Given the description of an element on the screen output the (x, y) to click on. 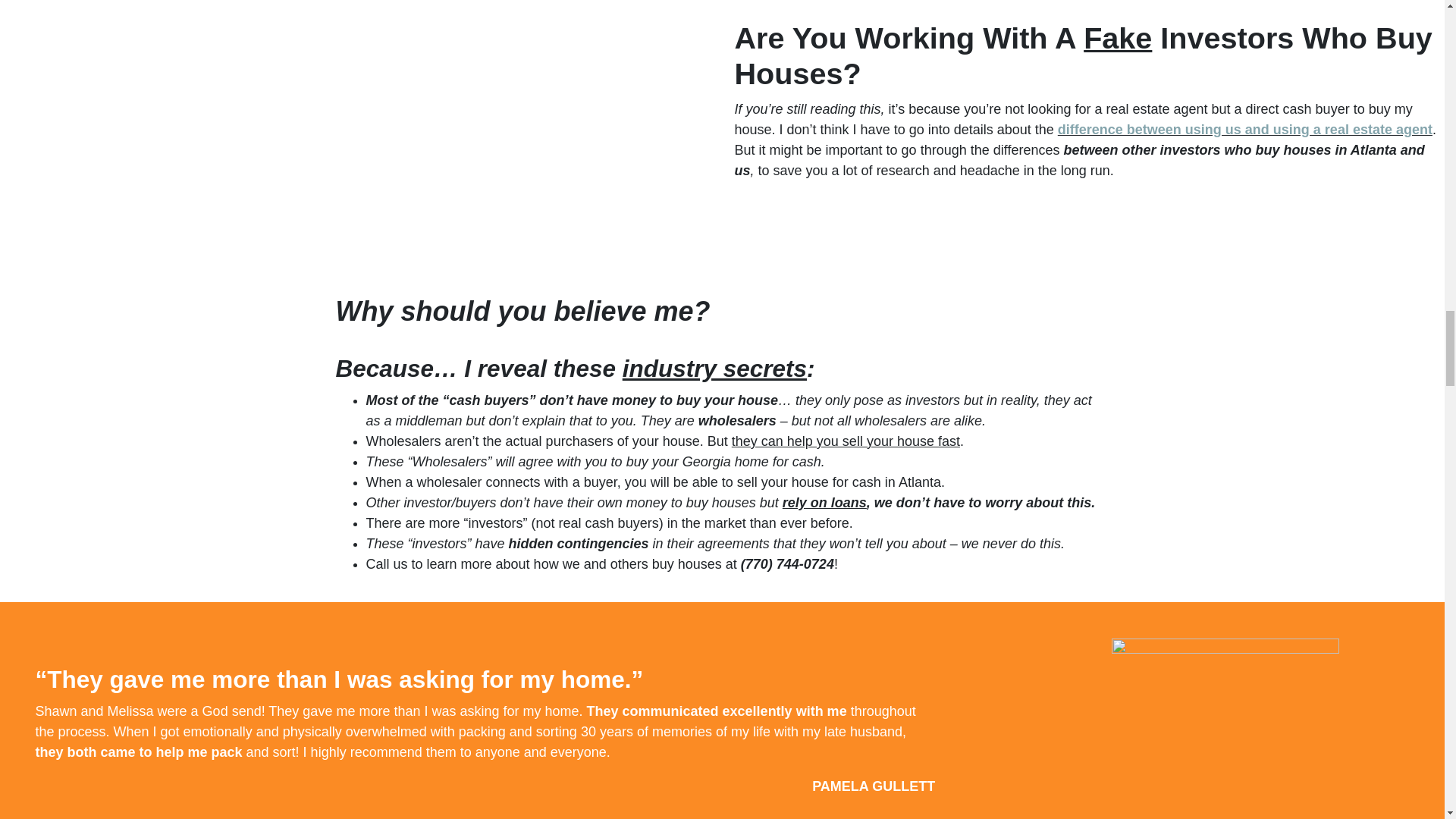
difference between using us and using a real estate agent (1245, 129)
